Given the description of an element on the screen output the (x, y) to click on. 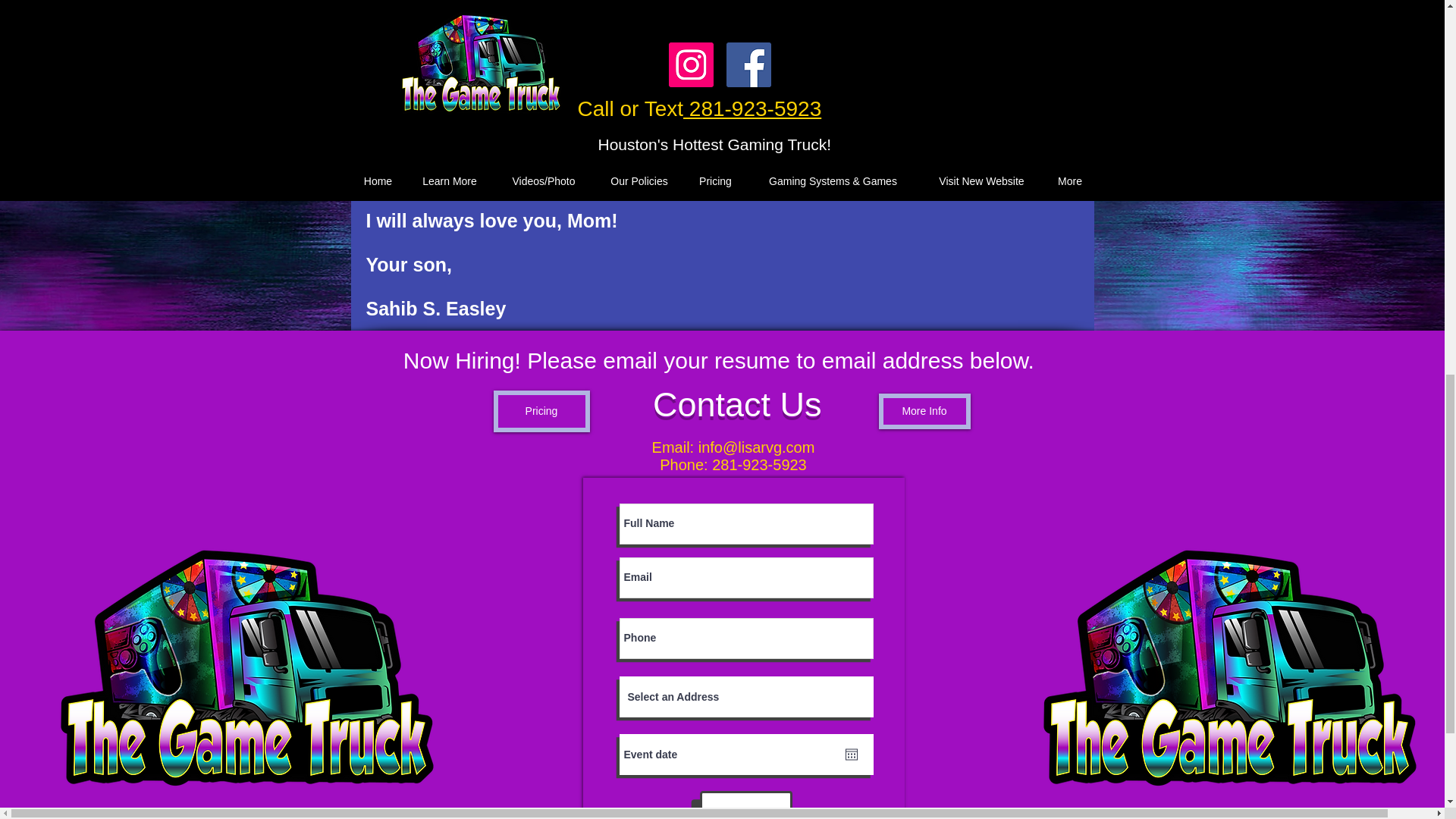
Submit (745, 805)
Pricing (541, 411)
More Info (923, 411)
